Given the description of an element on the screen output the (x, y) to click on. 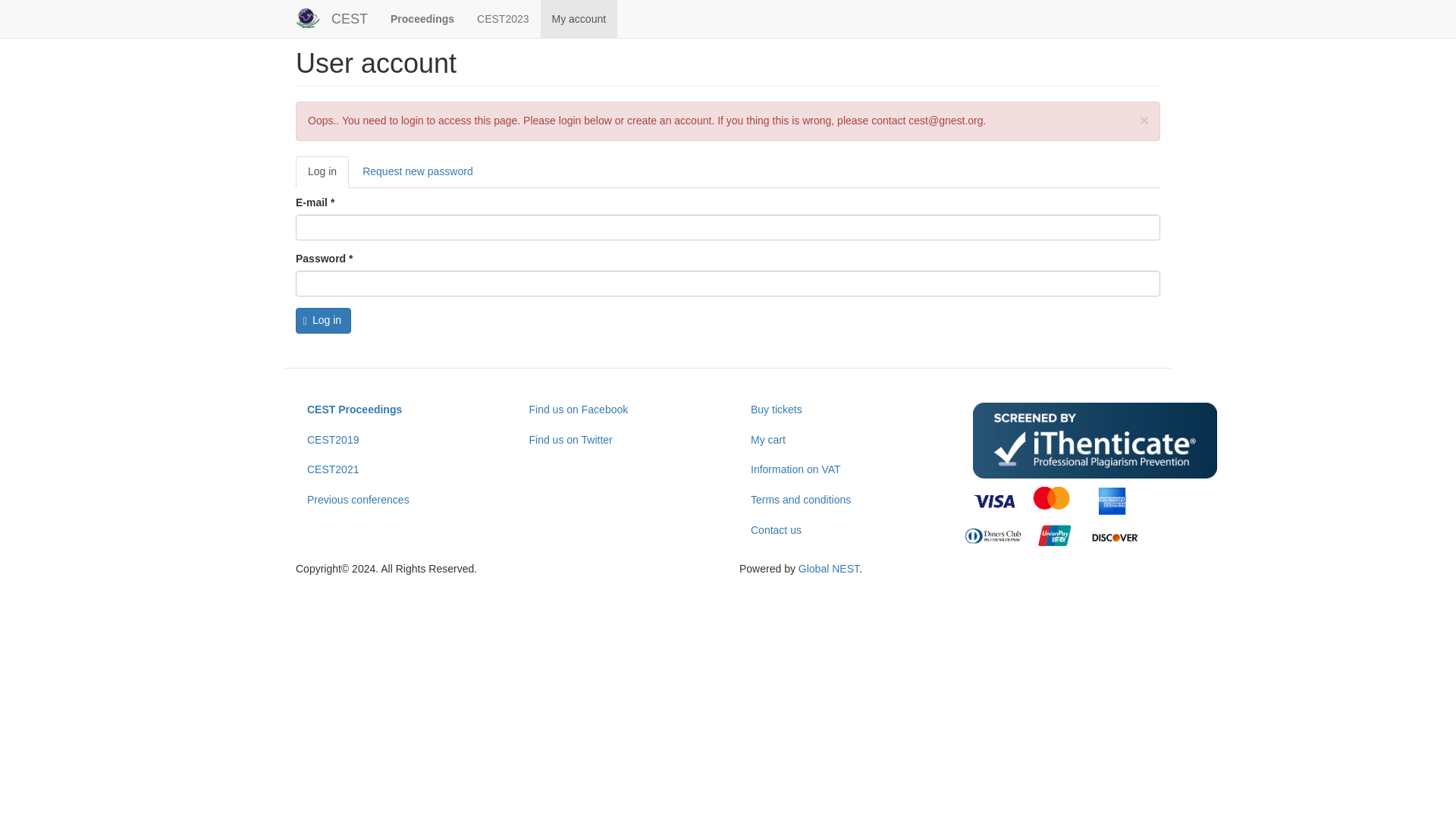
Global NEST (828, 568)
Home (349, 18)
My cart (839, 440)
Terms and conditions (839, 500)
CEST2023 (502, 18)
CEST Proceedings (395, 409)
Proceedings (421, 18)
Buy tickets (839, 409)
My account (578, 18)
